Given the description of an element on the screen output the (x, y) to click on. 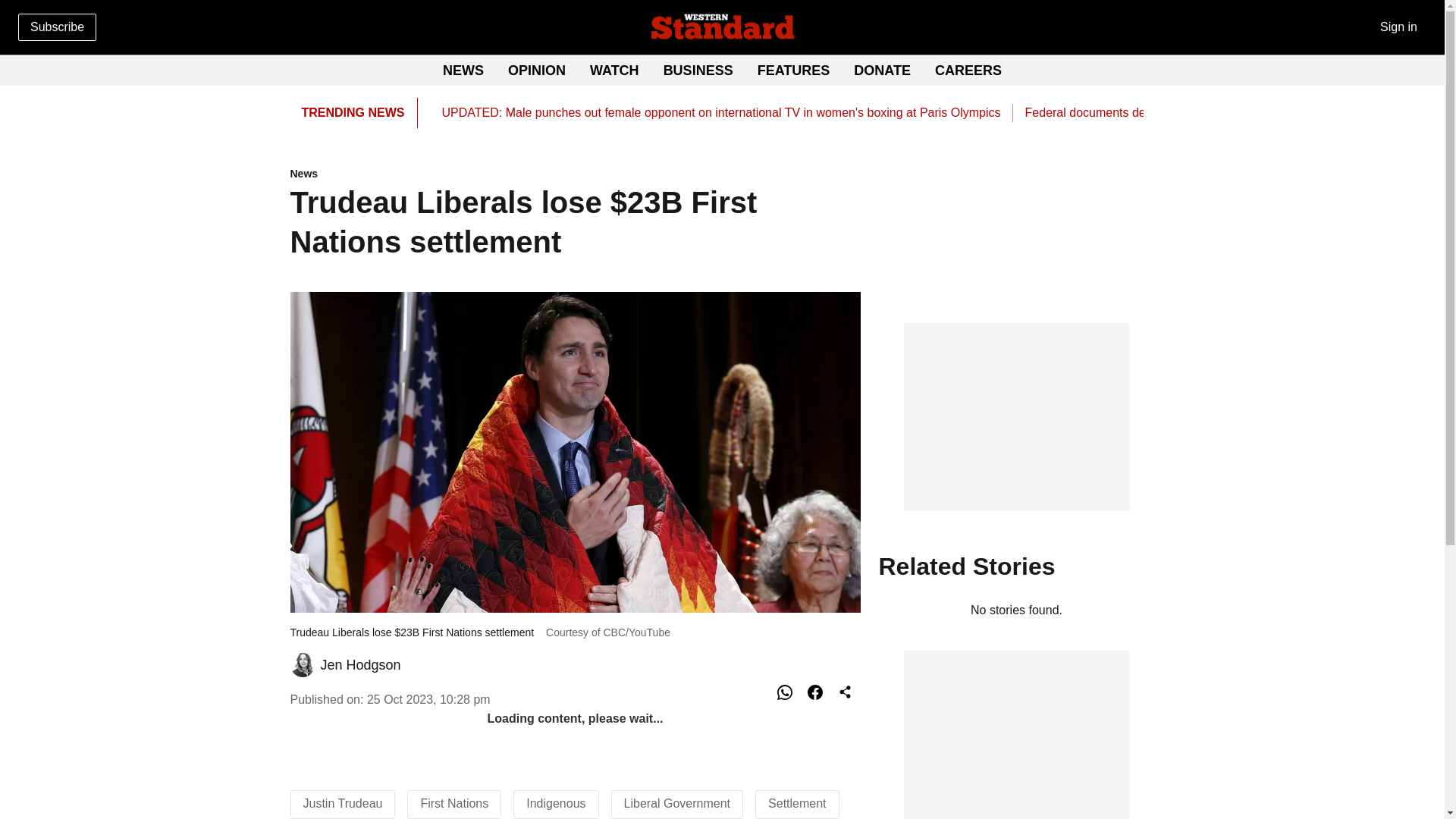
FEATURES (793, 70)
CAREERS (721, 70)
News (967, 70)
DONATE (574, 174)
BUSINESS (882, 70)
WATCH (698, 70)
